Given the description of an element on the screen output the (x, y) to click on. 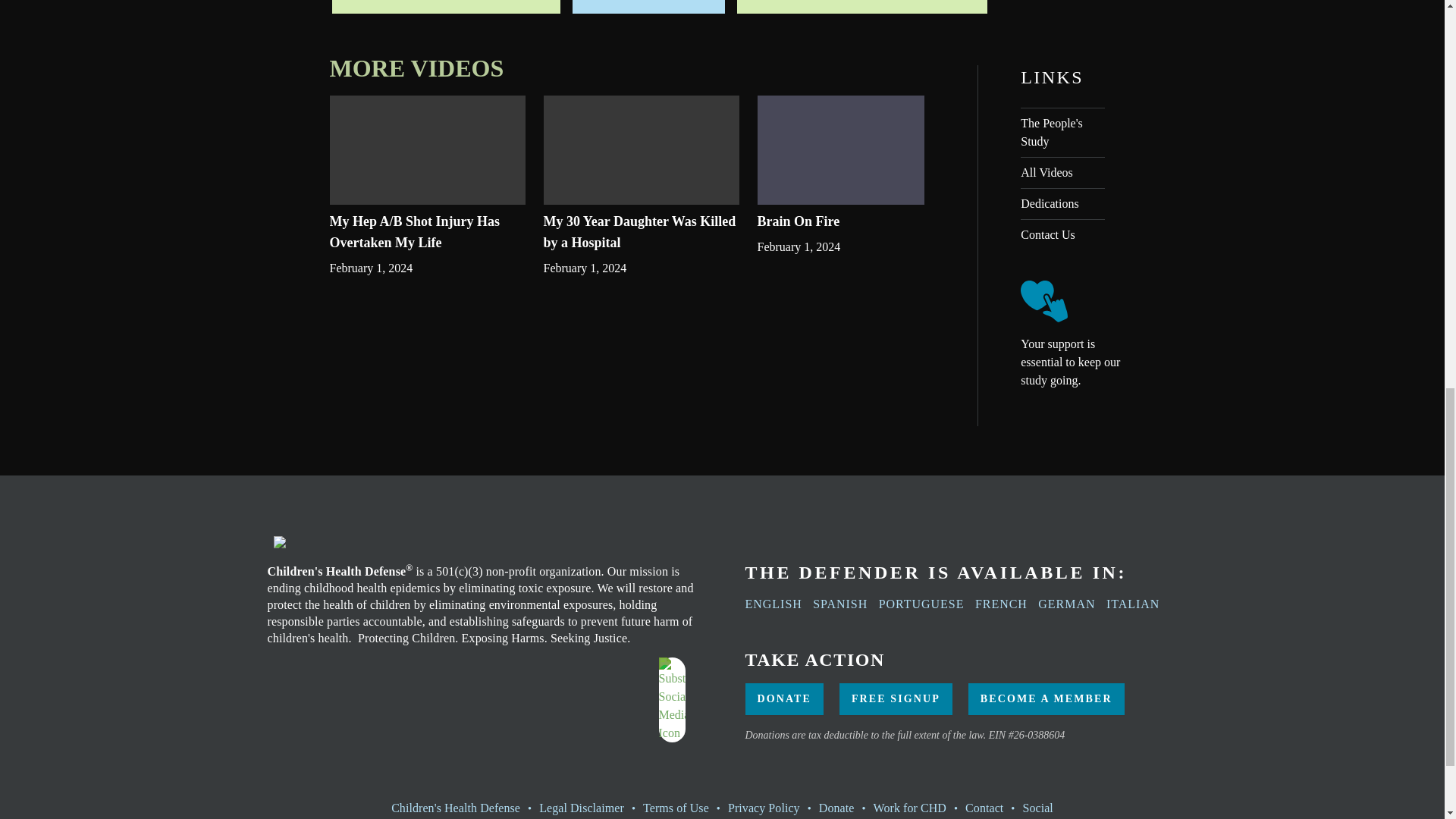
BROWSE ALL VIDEOS (861, 6)
SIGN-UP (648, 6)
GET TEXT ALERTS (445, 6)
